Given the description of an element on the screen output the (x, y) to click on. 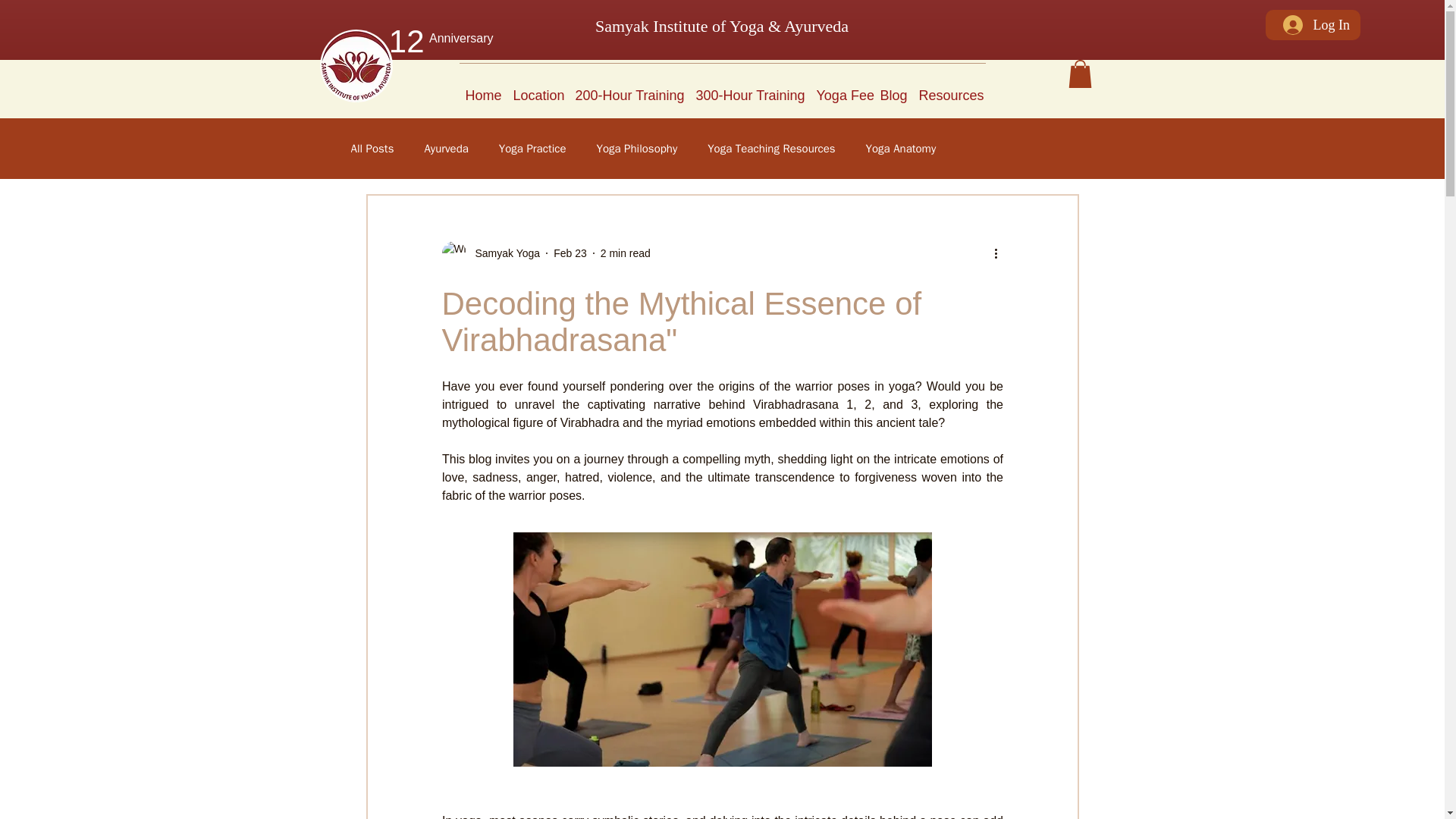
Samyak Yoga (490, 252)
Home (483, 89)
Yoga Practice (532, 148)
Ayurveda (445, 148)
2 min read (624, 253)
Feb 23 (569, 253)
Yoga Philosophy (637, 148)
Yoga Teaching Resources (770, 148)
Samyak Yoga (502, 253)
300-Hour Training (750, 89)
